Given the description of an element on the screen output the (x, y) to click on. 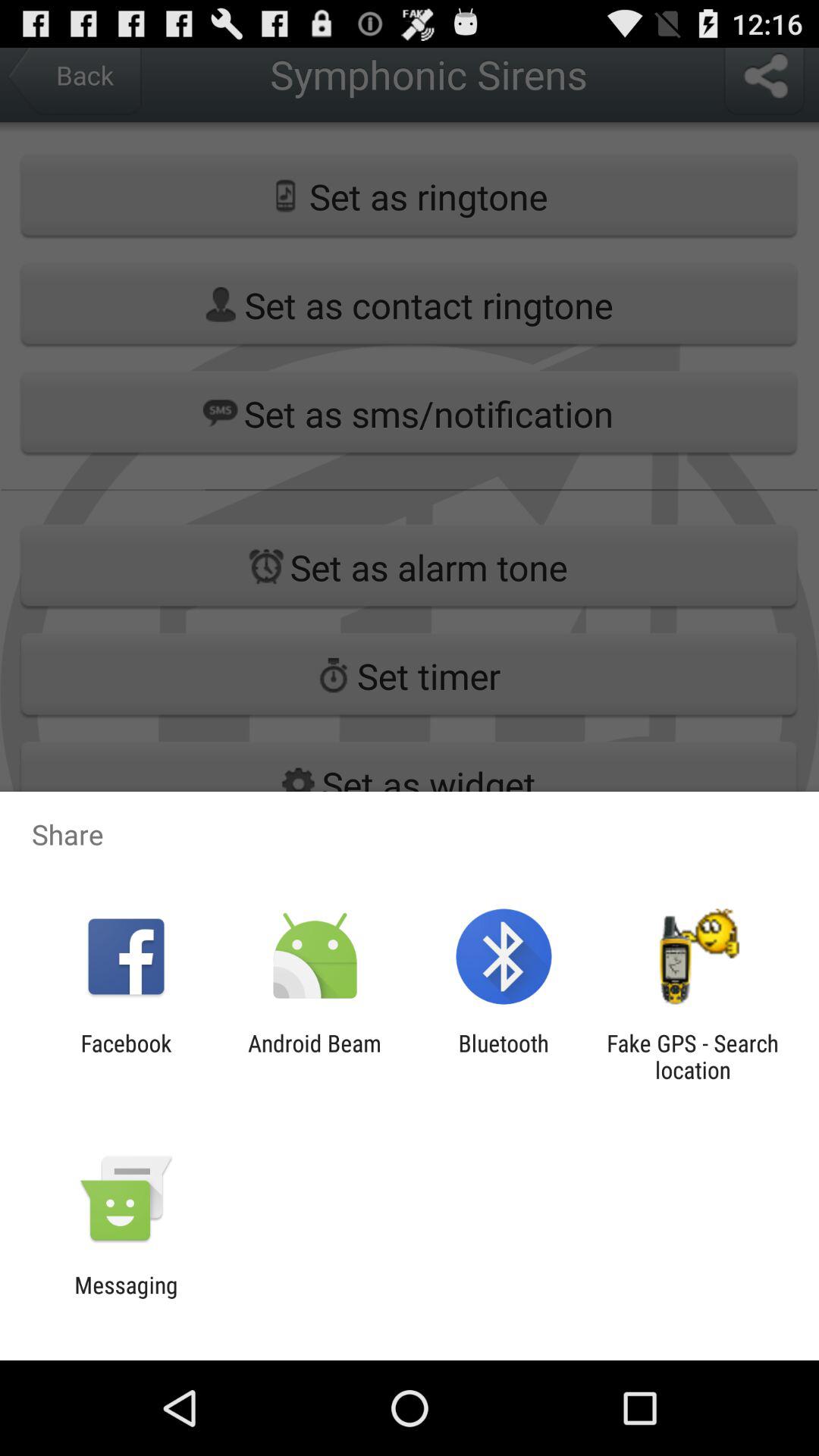
open bluetooth icon (503, 1056)
